Given the description of an element on the screen output the (x, y) to click on. 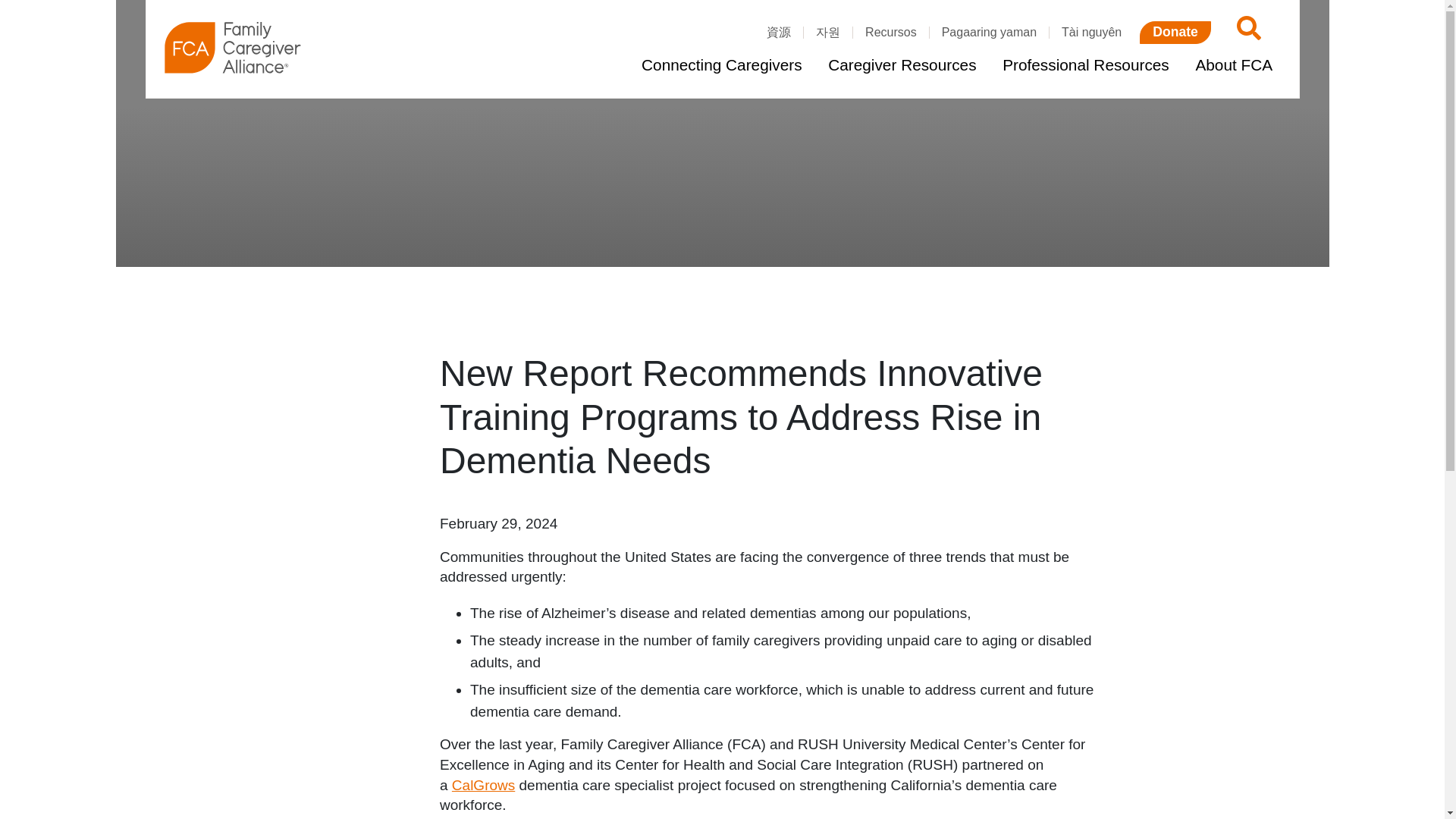
Recursos (890, 32)
Search (1246, 32)
Caregiver Resources (902, 65)
Professional Resources (1085, 65)
Connecting Caregivers (721, 65)
About FCA (1233, 65)
